Given the description of an element on the screen output the (x, y) to click on. 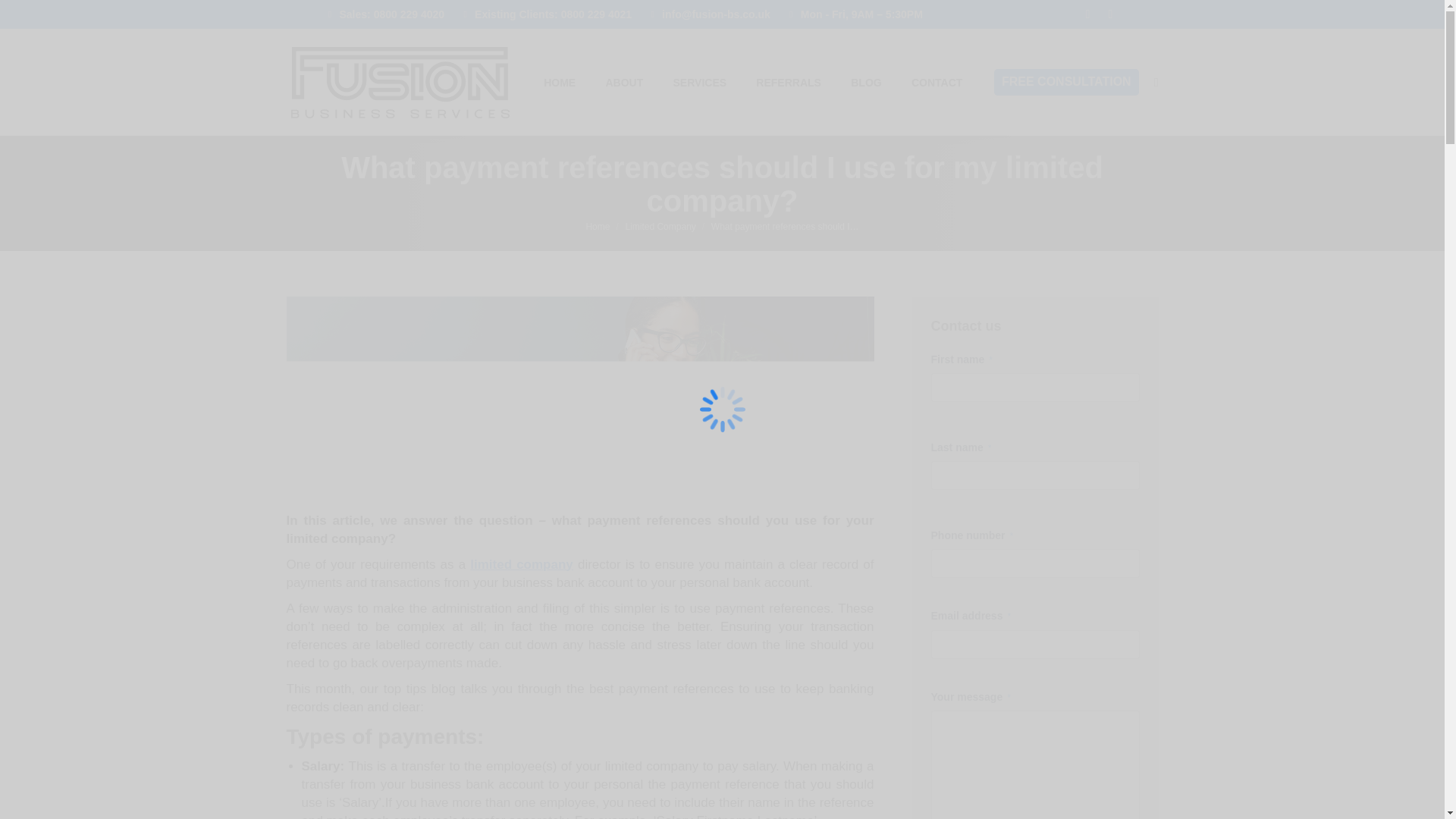
Existing Clients: 0800 229 4021 (545, 14)
Sales: 0800 229 4020 (384, 14)
SERVICES (699, 82)
Linkedin page opens in new window (1110, 14)
Limited Company (659, 226)
HOME (559, 82)
Home (597, 226)
X page opens in new window (1087, 14)
ABOUT (623, 82)
X page opens in new window (1087, 14)
Limited Company (521, 564)
Linkedin page opens in new window (1110, 14)
